Given the description of an element on the screen output the (x, y) to click on. 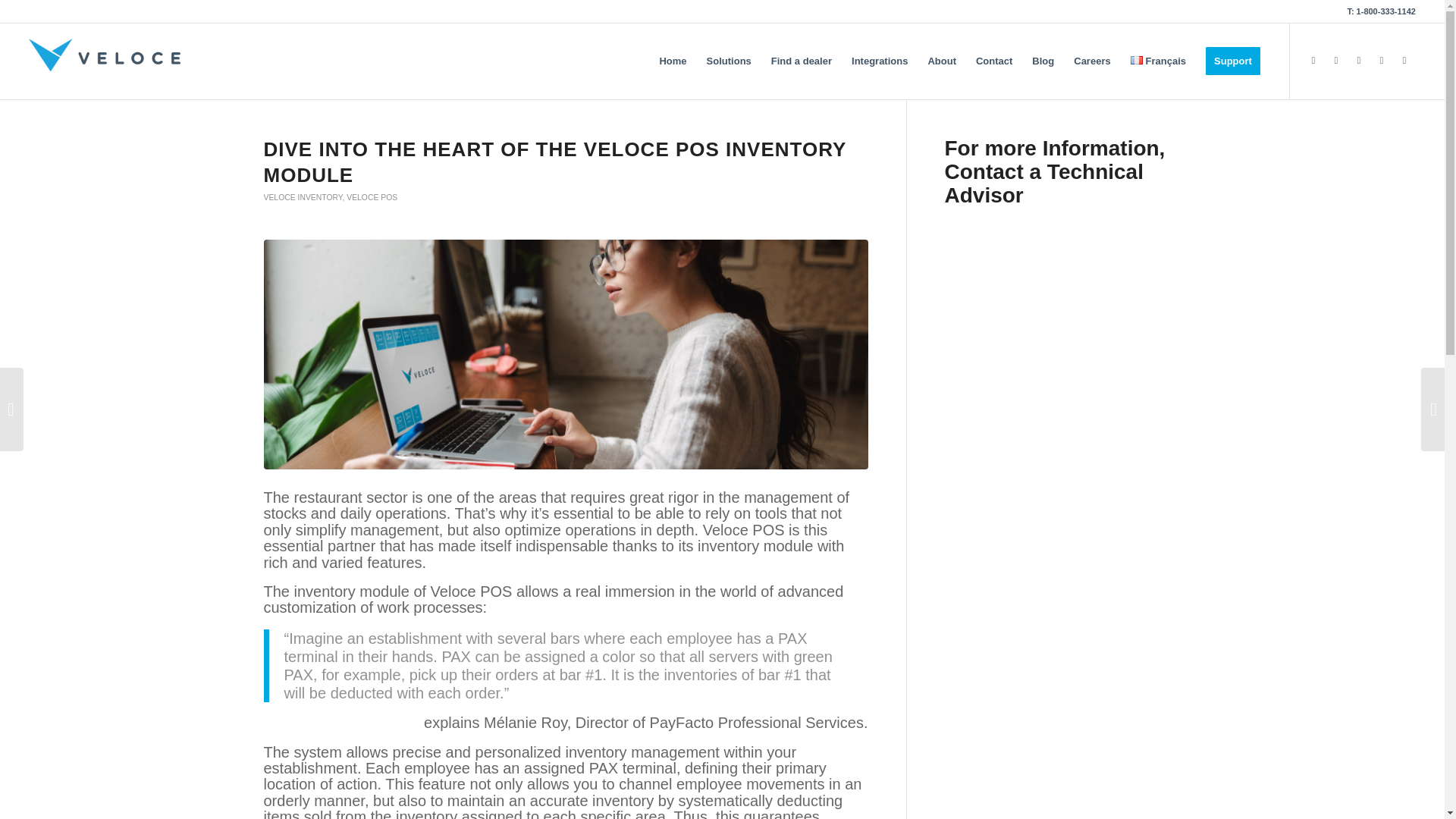
Youtube (1336, 60)
VELOCE POS (371, 197)
Linkedin (1404, 60)
Support (1232, 61)
Find a dealer (801, 61)
VELOCE INVENTORY (302, 197)
Integrations (879, 61)
T: 1-800-333-1142 (1380, 10)
Facebook (1359, 60)
